Given the description of an element on the screen output the (x, y) to click on. 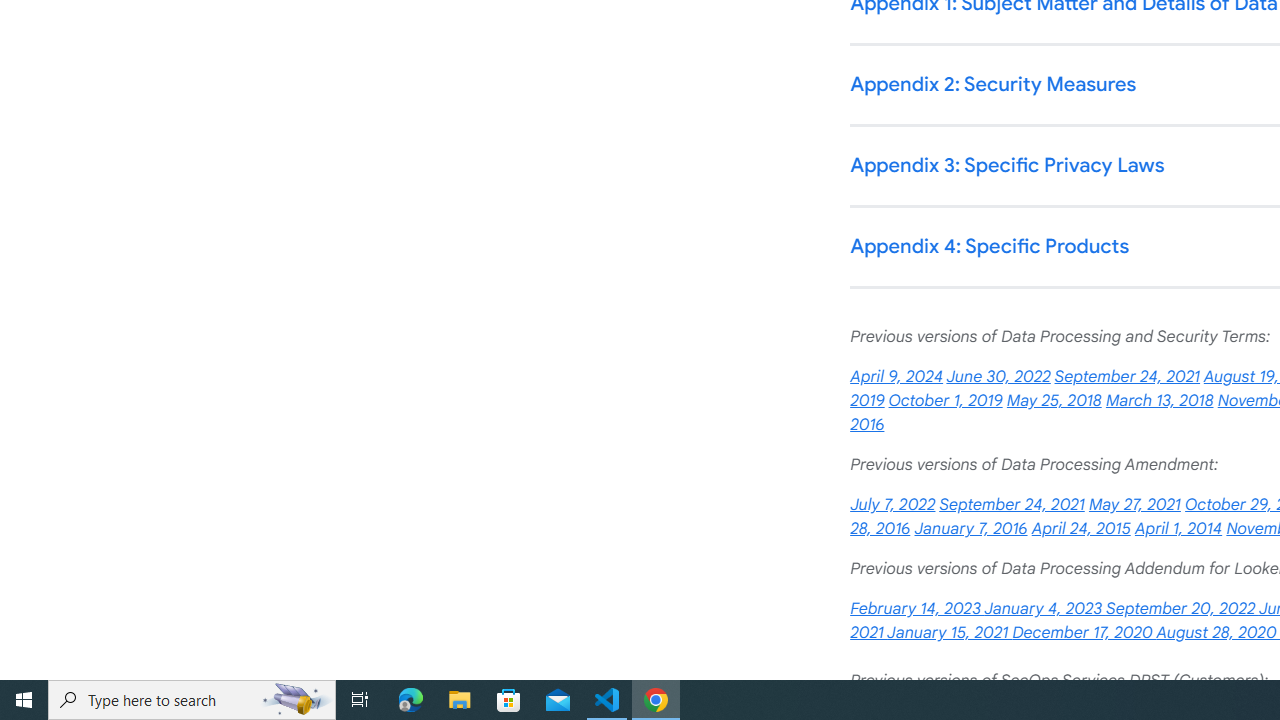
May 27, 2021 (1134, 504)
